Given the description of an element on the screen output the (x, y) to click on. 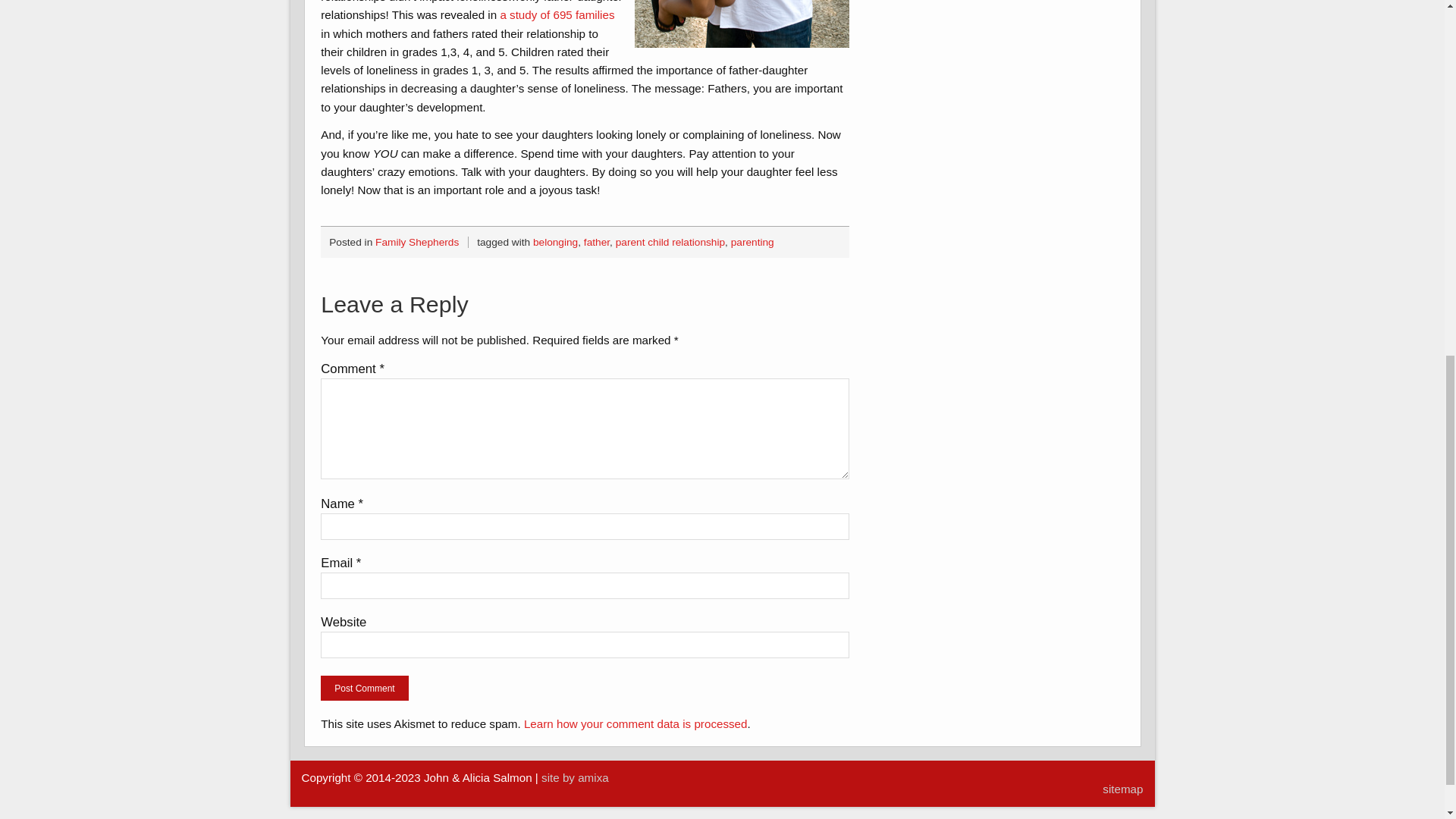
Family Shepherds (416, 242)
parent child relationship (670, 242)
sitemap (1122, 788)
parenting (752, 242)
Learn how your comment data is processed (636, 723)
belonging (555, 242)
a study of 695 families (556, 14)
Post Comment (363, 688)
father (596, 242)
site by amixa (574, 777)
